Given the description of an element on the screen output the (x, y) to click on. 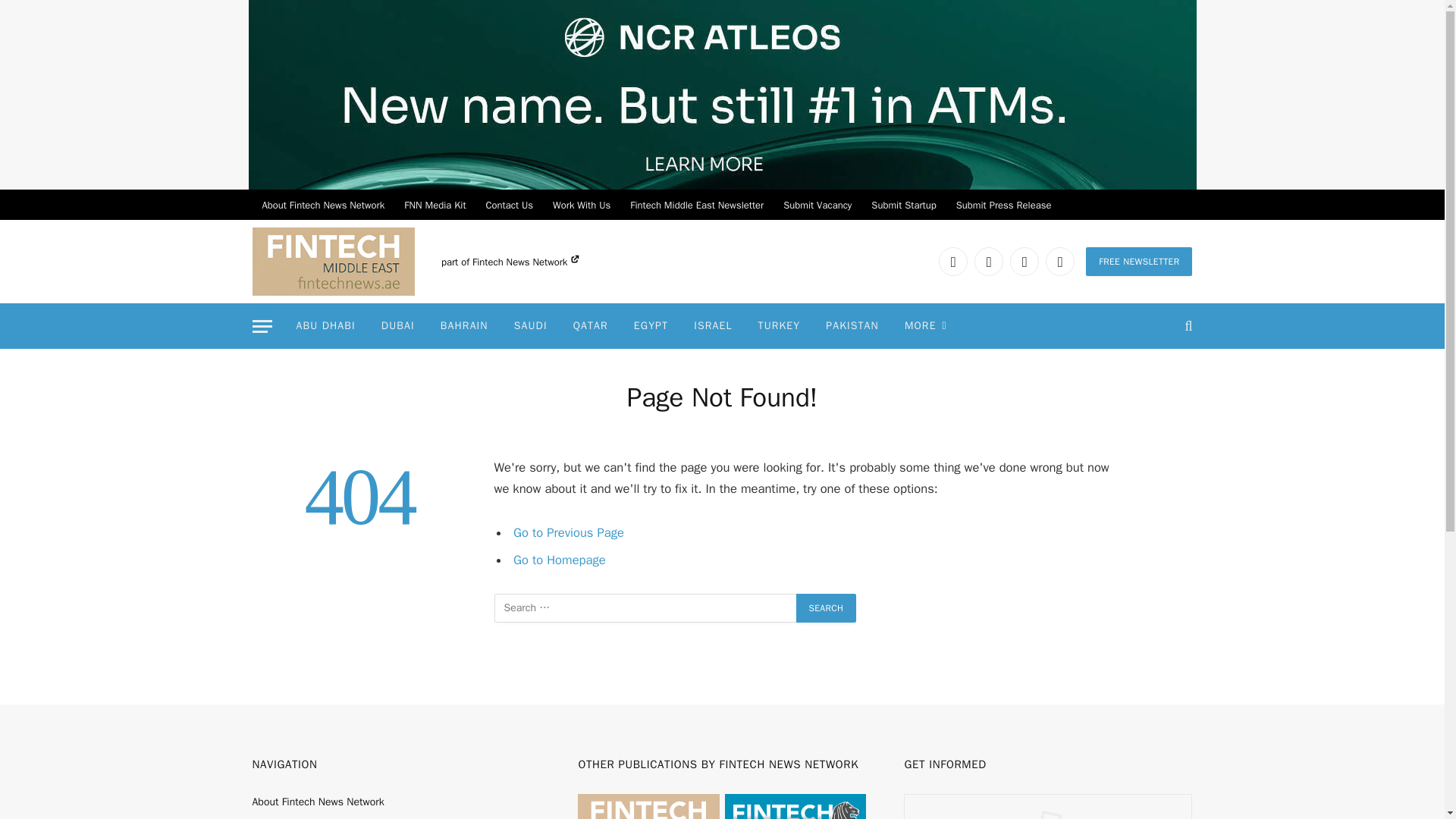
EGYPT (651, 325)
Facebook (988, 261)
Fintechnews Middle East (332, 261)
FREE NEWSLETTER (1139, 261)
Search (826, 607)
FNN Media Kit (435, 204)
Submit Startup (902, 204)
Fintech Middle East Newsletter (696, 204)
DUBAI (398, 325)
SAUDI (530, 325)
